Given the description of an element on the screen output the (x, y) to click on. 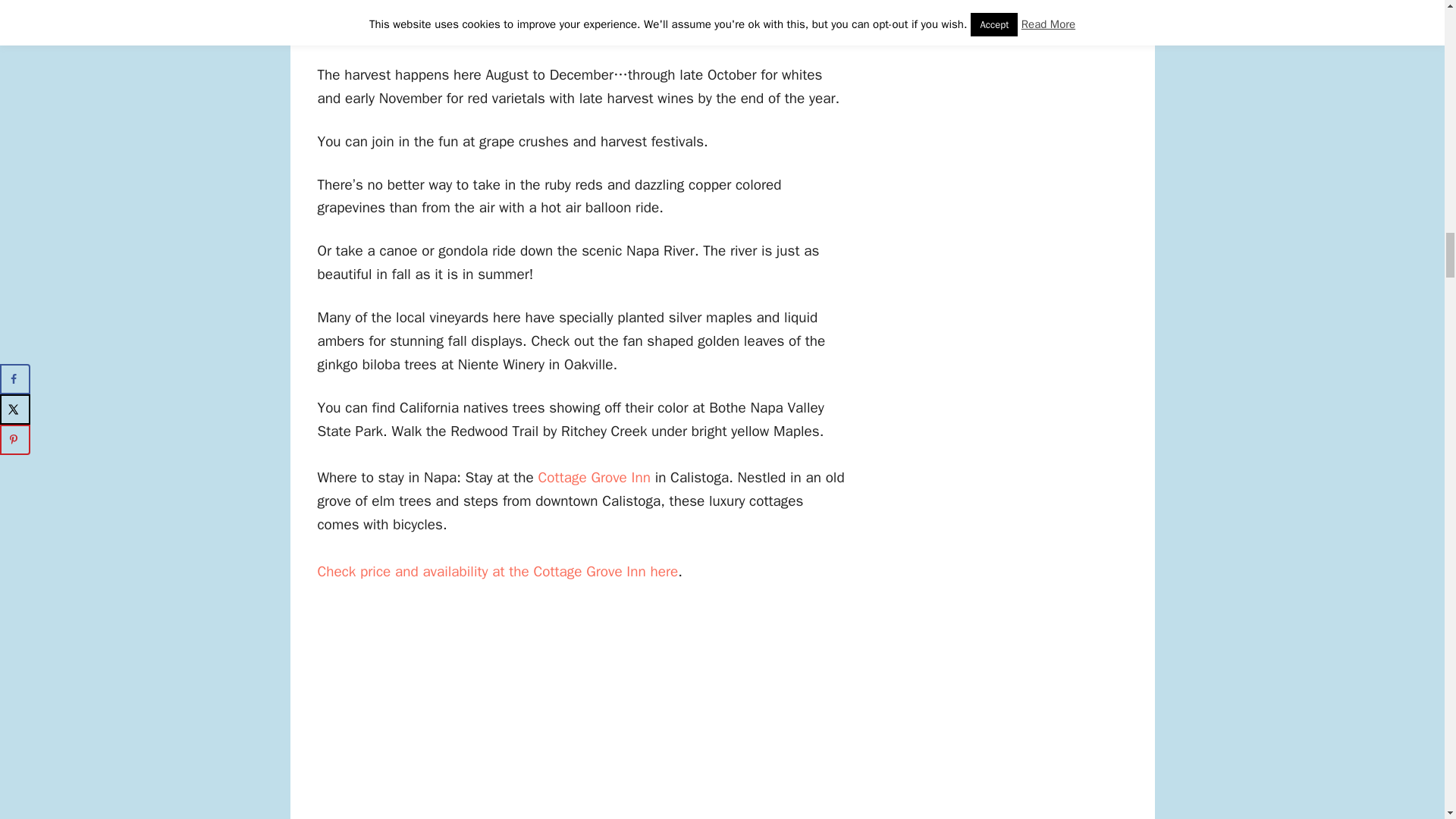
CA Fall colors - Napa Cottage Grove Inn (594, 477)
CA Fall colors - Napa Cottage Grove Inn (497, 571)
